Given the description of an element on the screen output the (x, y) to click on. 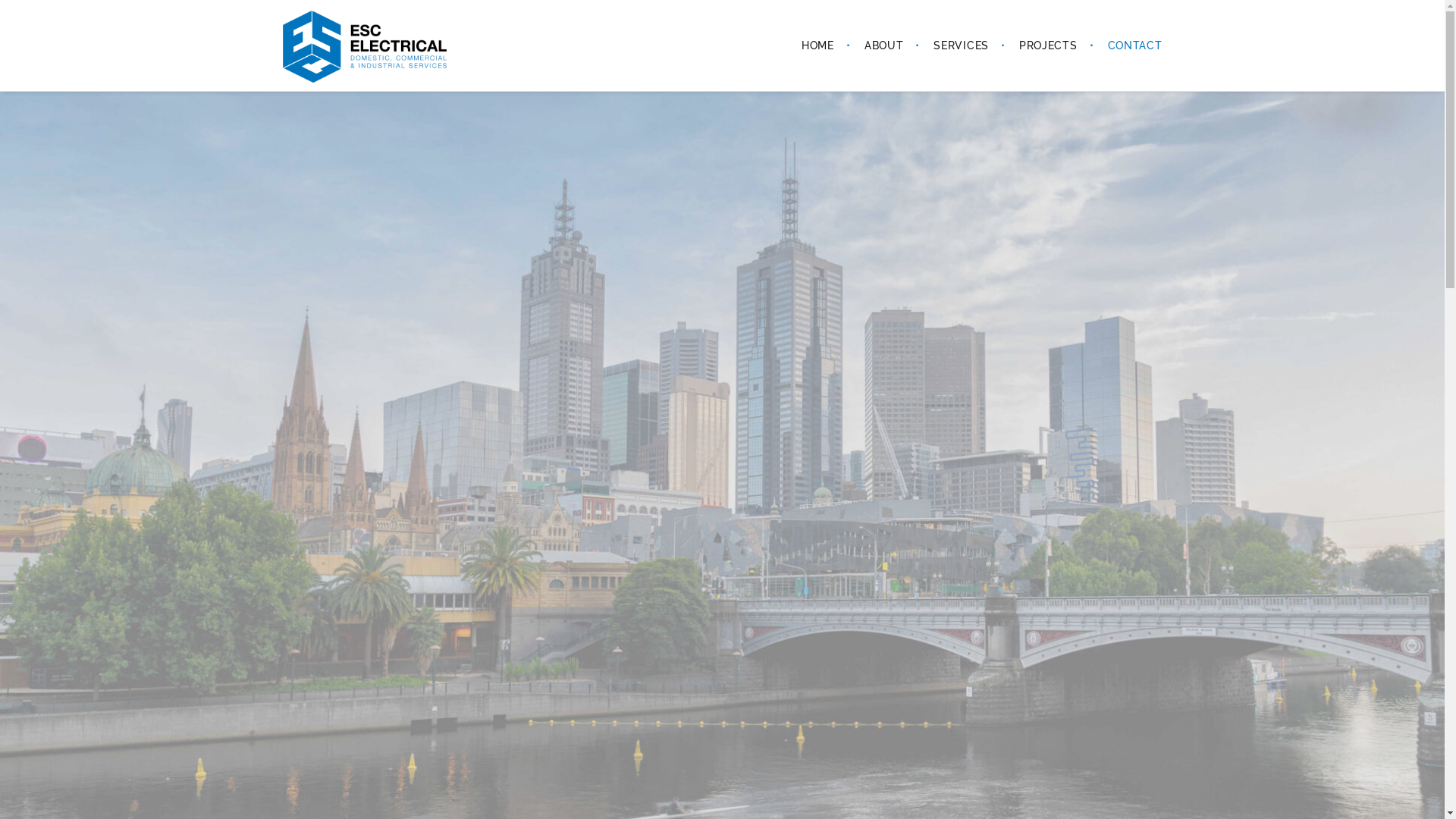
HOME Element type: text (817, 45)
PROJECTS Element type: text (1048, 45)
ABOUT Element type: text (884, 45)
CONTACT Element type: text (1127, 45)
SERVICES Element type: text (961, 45)
